Given the description of an element on the screen output the (x, y) to click on. 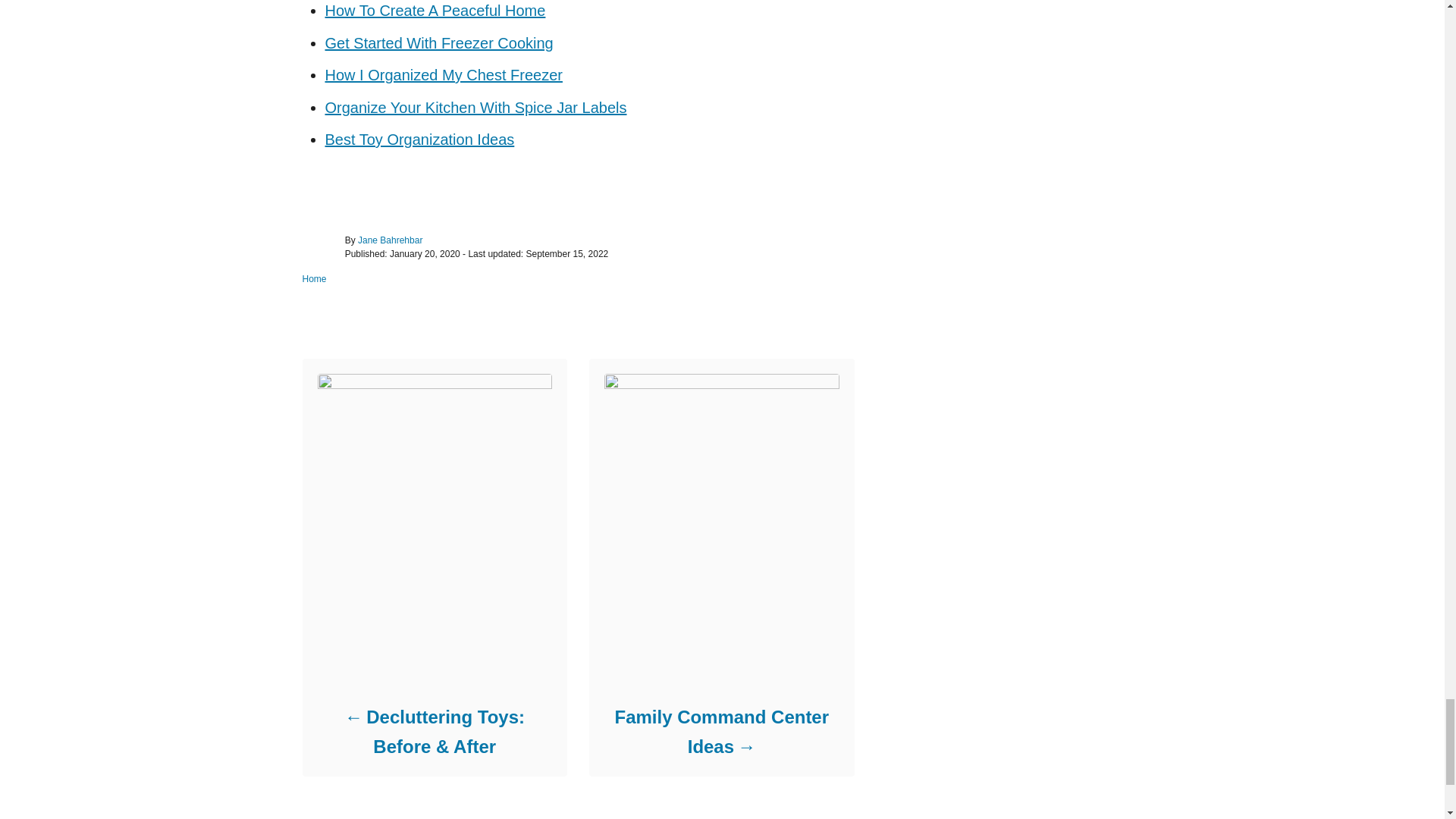
Best Toy Organization Ideas (418, 139)
Organize Your Kitchen With Spice Jar Labels (475, 107)
How I Organized My Chest Freezer (443, 74)
How To Create A Peaceful Home (434, 10)
Get Started With Freezer Cooking (438, 43)
